Given the description of an element on the screen output the (x, y) to click on. 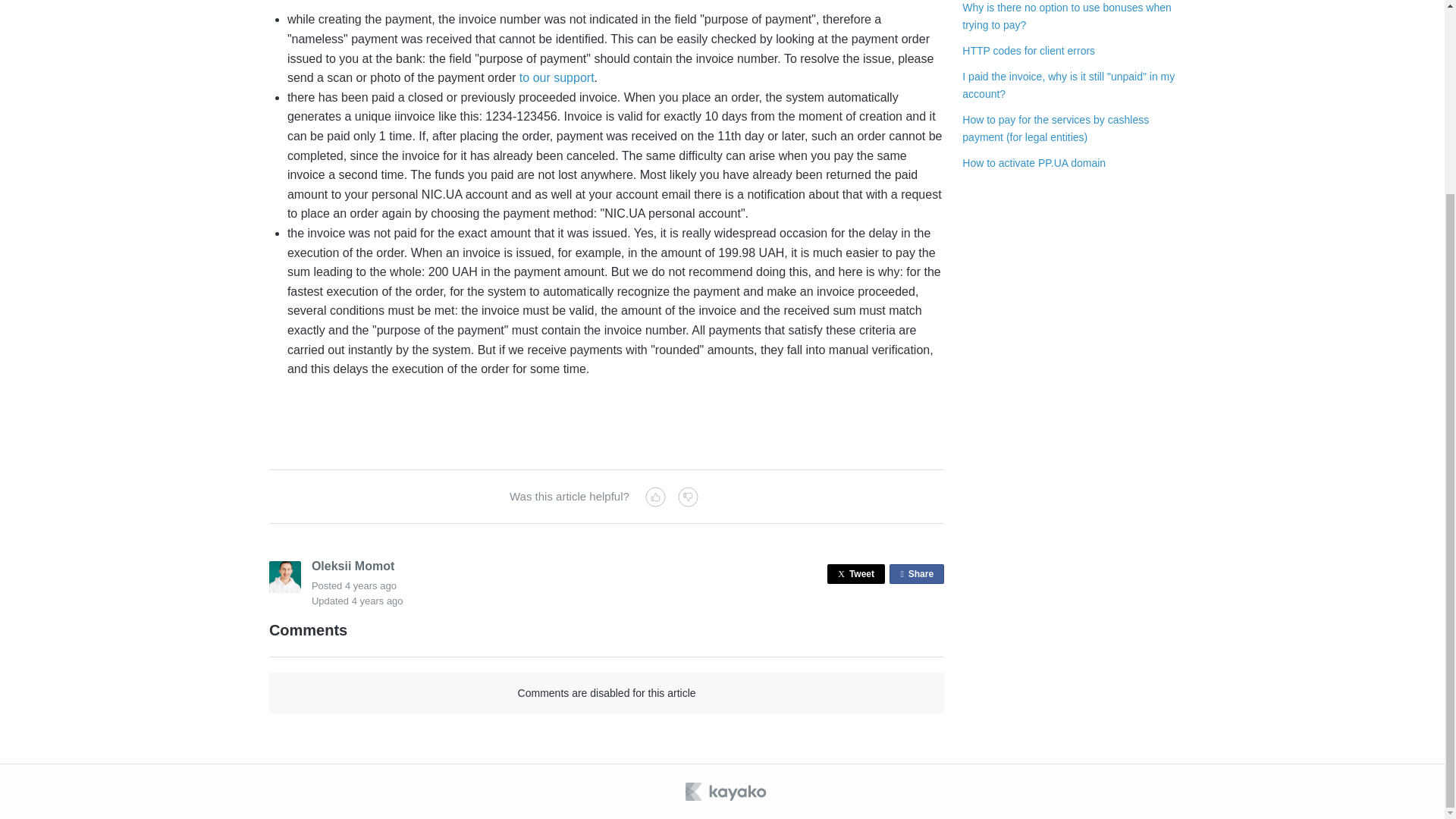
How to activate PP.UA domain (916, 573)
to our support (1033, 162)
I paid the invoice, why is it still "unpaid" in my account? (556, 77)
Tweet (1068, 84)
May 28th 2020, 12:09 AM (856, 573)
HTTP codes for client errors (370, 585)
Visit Kayako website (1028, 50)
Why is there no option to use bonuses when trying to pay? (726, 791)
June 1st 2020, 12:17 AM (1067, 15)
